Given the description of an element on the screen output the (x, y) to click on. 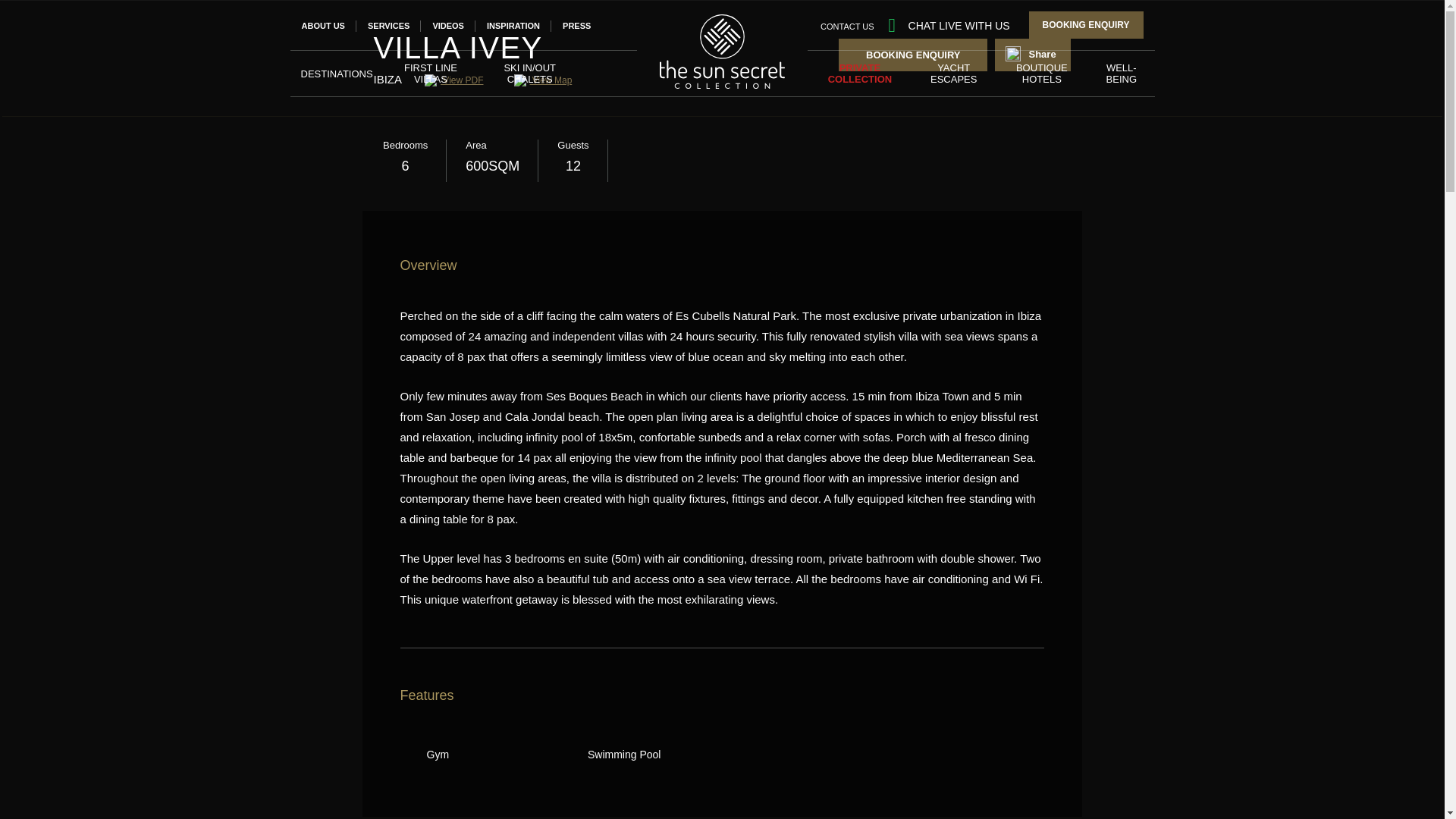
BOOKING ENQUIRY (1085, 24)
SERVICES (388, 25)
FIRST LINE VILLAS (431, 73)
BOUTIQUE HOTELS (1041, 73)
PRESS (576, 25)
YACHT ESCAPES (953, 73)
ABOUT US (323, 25)
DESTINATIONS (335, 73)
VIDEOS (448, 25)
